Given the description of an element on the screen output the (x, y) to click on. 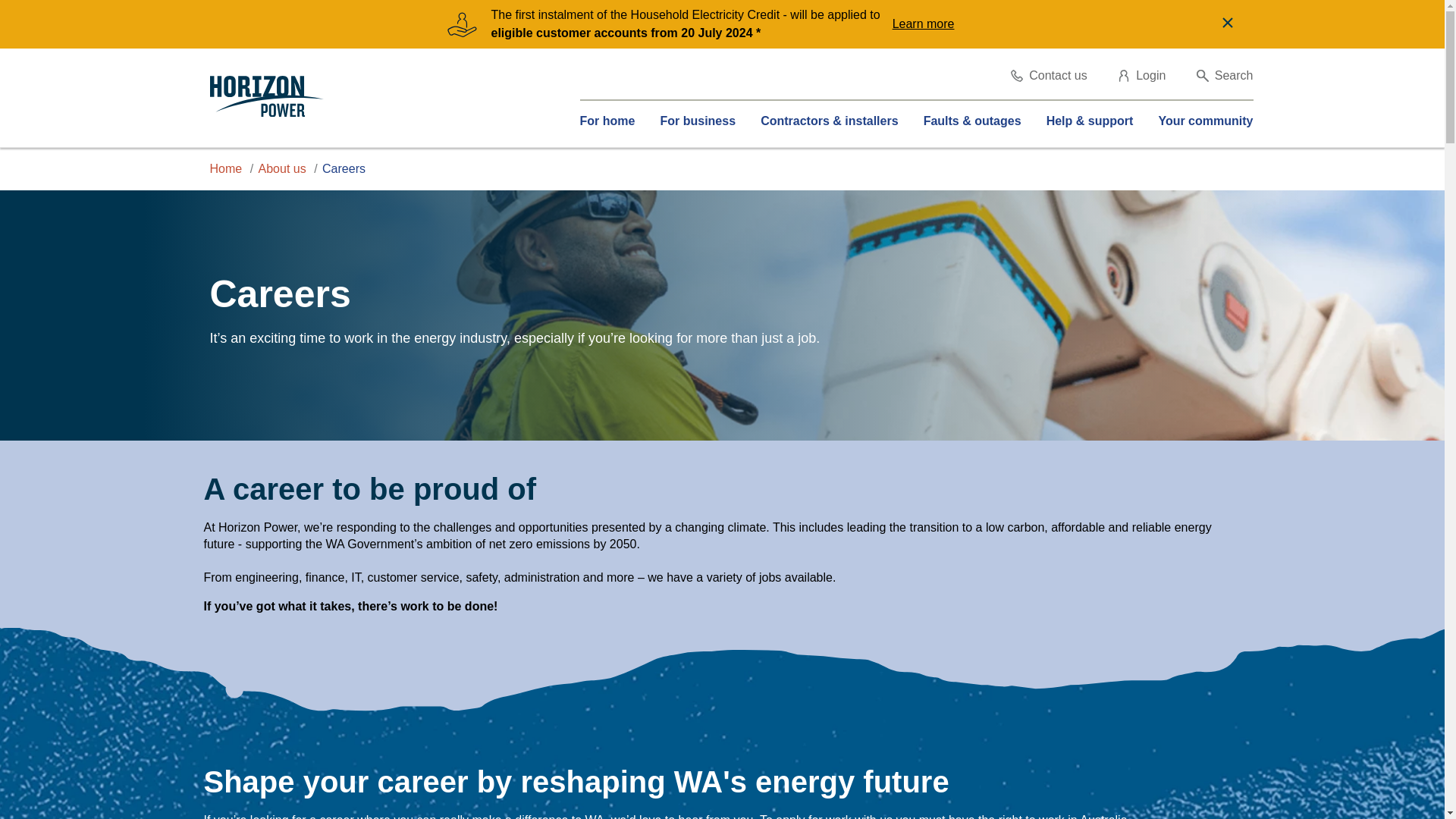
Contact us (1048, 75)
For business (697, 121)
Search (1224, 75)
Horizon Power (266, 96)
Login (1142, 75)
Learn more (926, 24)
Contact us (1048, 75)
Login (1142, 75)
Search (1224, 75)
Learn more (926, 24)
For home (606, 121)
